Given the description of an element on the screen output the (x, y) to click on. 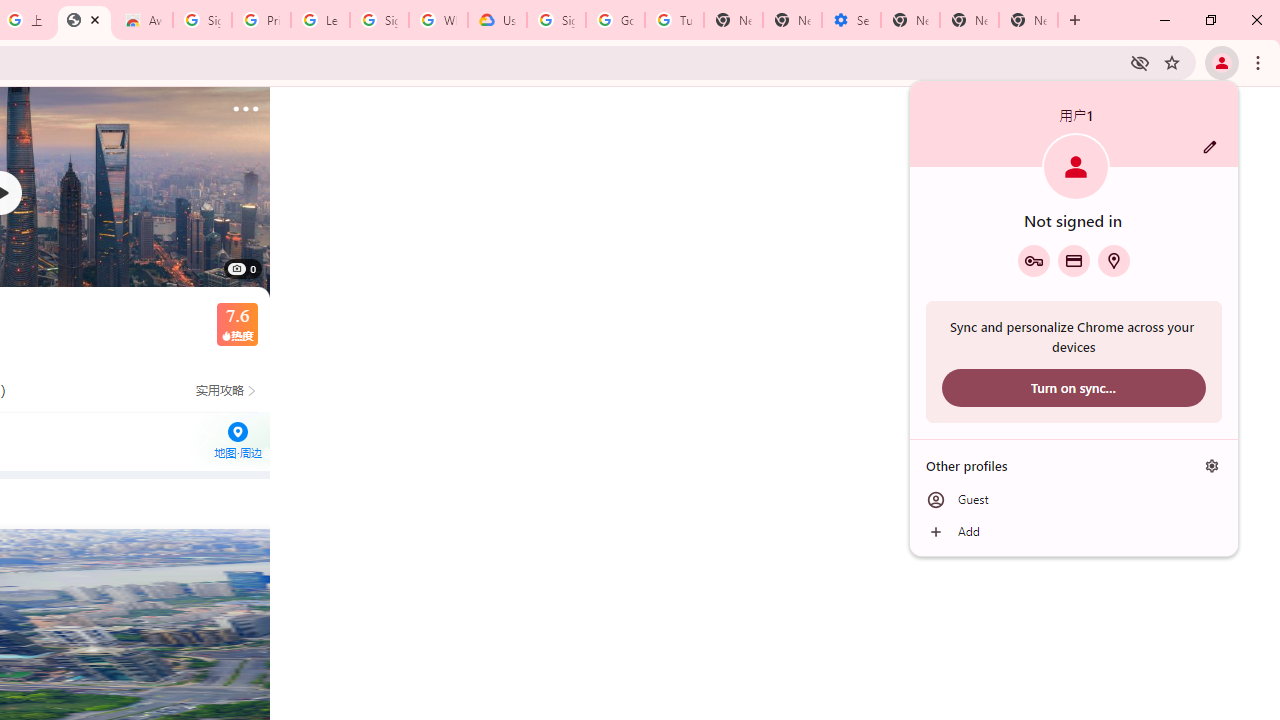
New Tab (909, 20)
Manage profiles (1211, 465)
Addresses and more (1114, 260)
Guest (1073, 499)
Settings - Addresses and more (850, 20)
Sign in - Google Accounts (556, 20)
Google Account Help (615, 20)
Sign in - Google Accounts (379, 20)
Who are Google's partners? - Privacy and conditions - Google (438, 20)
